Given the description of an element on the screen output the (x, y) to click on. 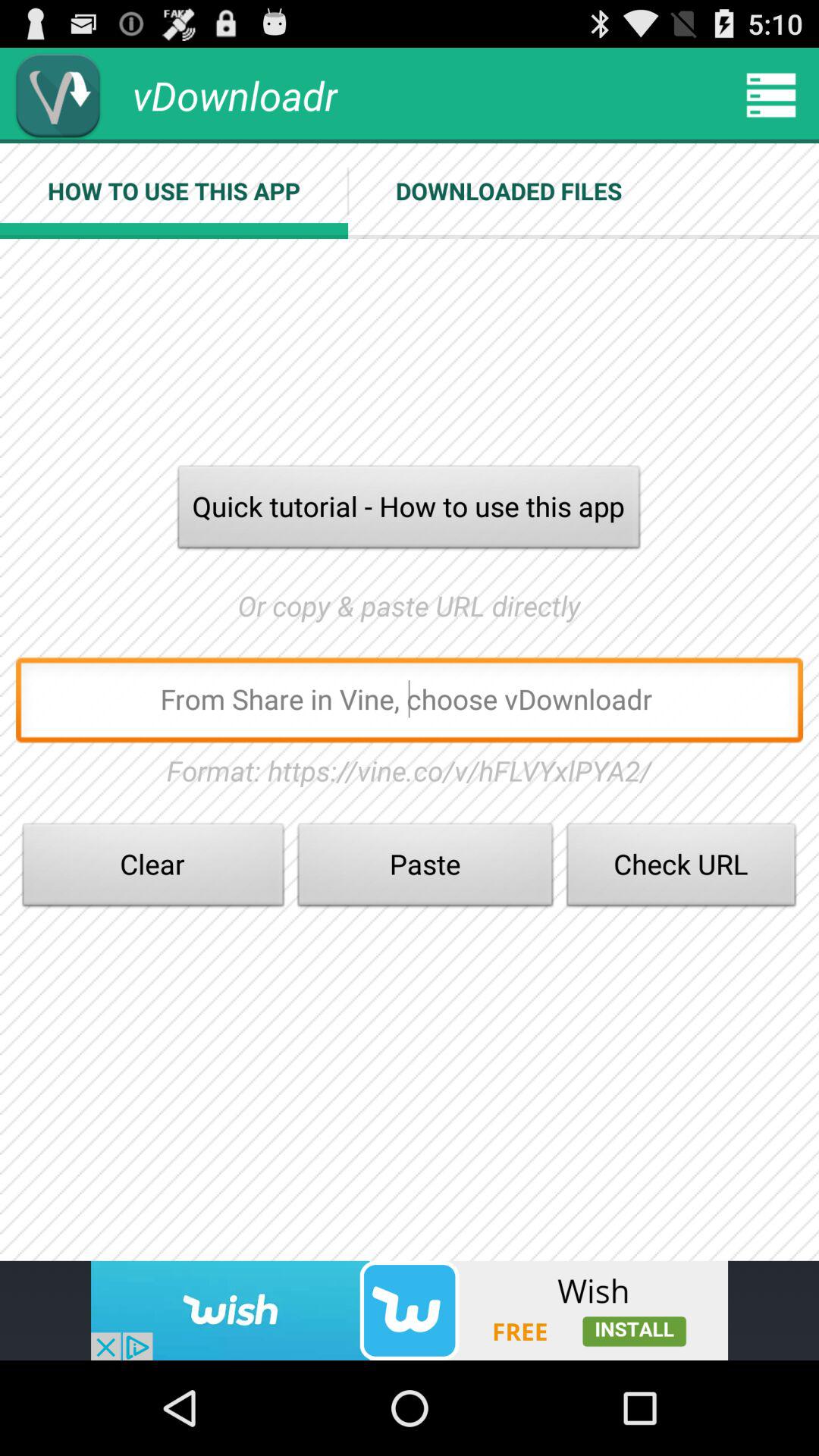
more (771, 95)
